Given the description of an element on the screen output the (x, y) to click on. 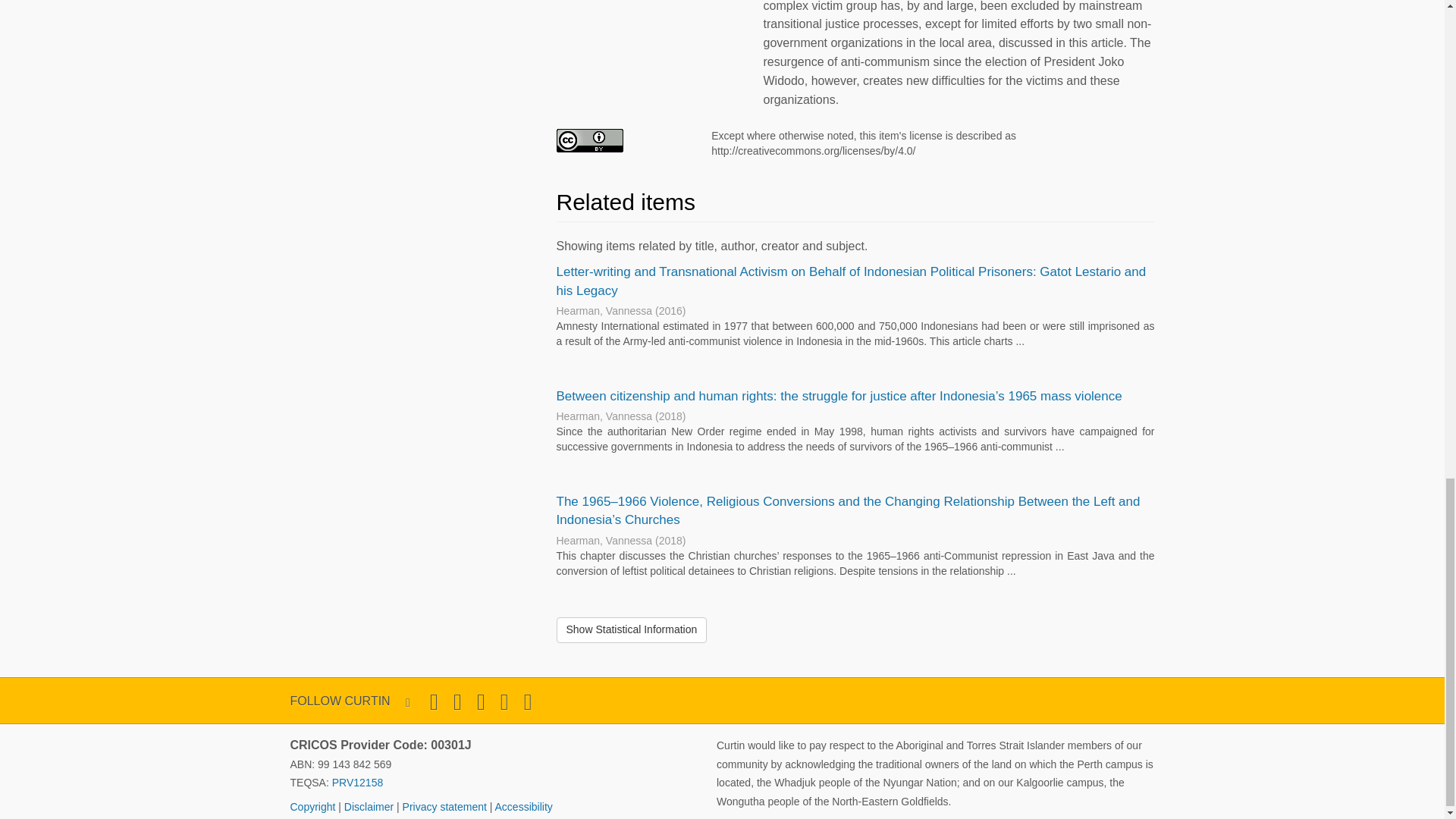
Show Statistical Information (631, 629)
